Given the description of an element on the screen output the (x, y) to click on. 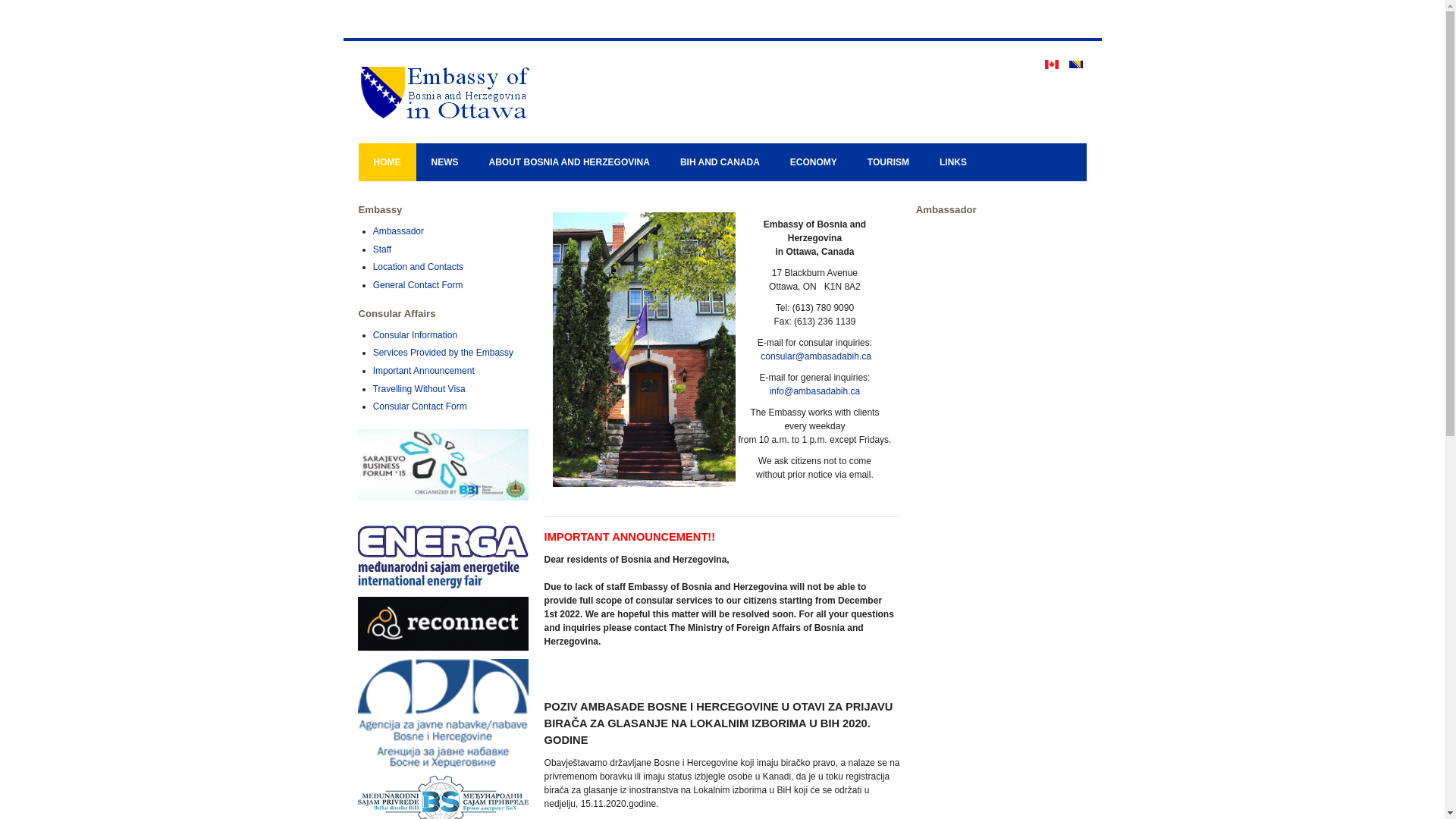
Consular Information Element type: text (415, 334)
Ambassador Element type: text (398, 230)
TOURISM Element type: text (888, 162)
ABOUT BOSNIA AND HERZEGOVINA Element type: text (568, 162)
LINKS Element type: text (953, 162)
info@ambasadabih.ca Element type: text (814, 390)
Staff Element type: text (382, 249)
consular@ambasadabih.ca Element type: text (815, 356)
Services Provided by the Embassy Element type: text (443, 352)
Consular Contact Form Element type: text (420, 406)
Location and Contacts Element type: text (418, 266)
English (CA) Element type: hover (1051, 64)
Embassy of Bosnia and Herzegovina in Ottawa Element type: hover (509, 91)
General Contact Form Element type: text (418, 284)
ECONOMY Element type: text (813, 162)
BIH AND CANADA Element type: text (720, 162)
Bosanski (BS) Element type: hover (1075, 64)
Travelling Without Visa Element type: text (419, 388)
HOME Element type: text (386, 162)
NEWS Element type: text (444, 162)
Important Announcement Element type: text (423, 370)
